Given the description of an element on the screen output the (x, y) to click on. 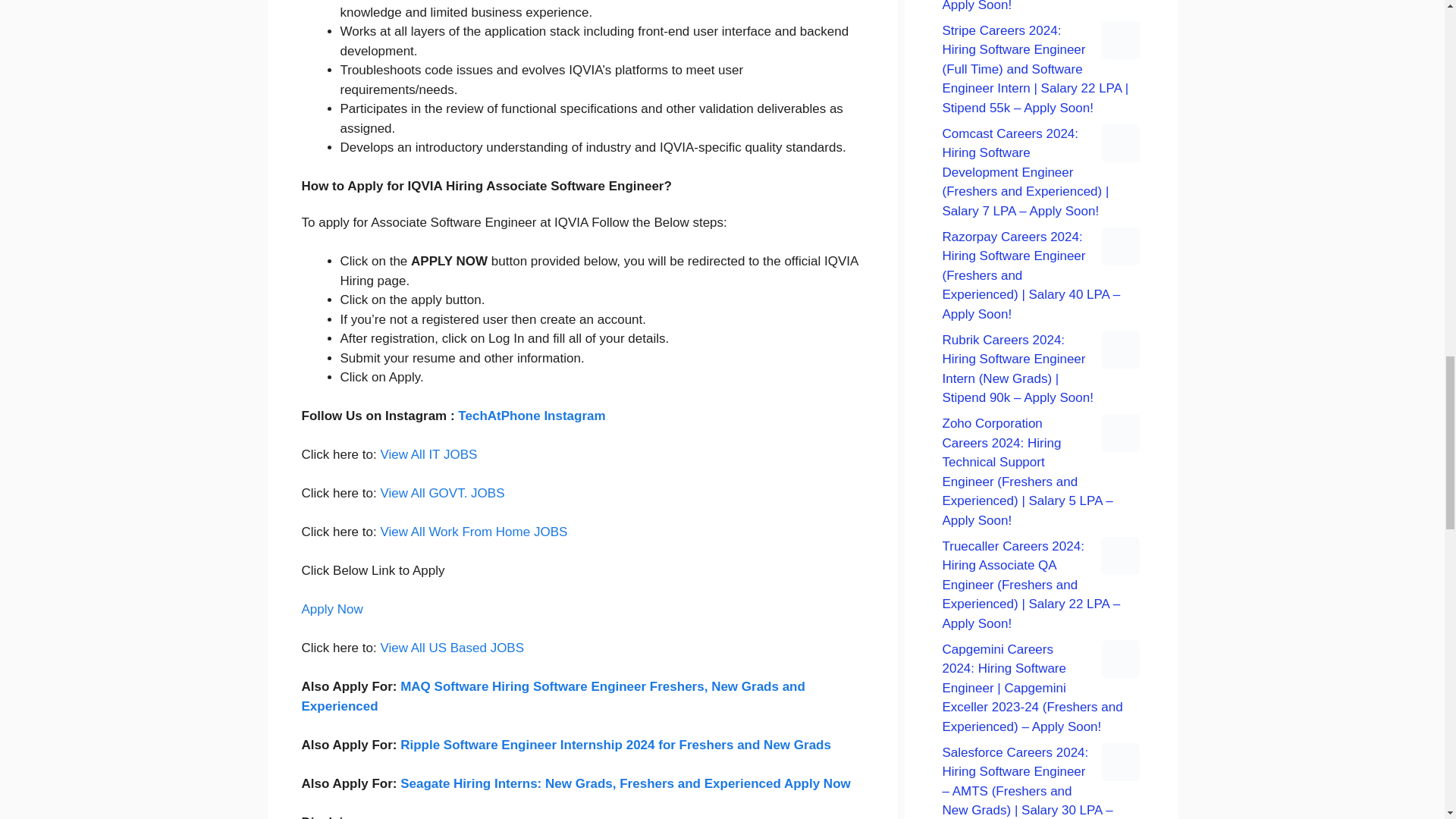
Apply Now (331, 608)
View All US Based JOBS (452, 647)
TechAtPhone Instagram (531, 415)
View All IT JOBS (428, 454)
View All GOVT. JOBS (441, 493)
View All Work From Home JOBS (473, 531)
